Given the description of an element on the screen output the (x, y) to click on. 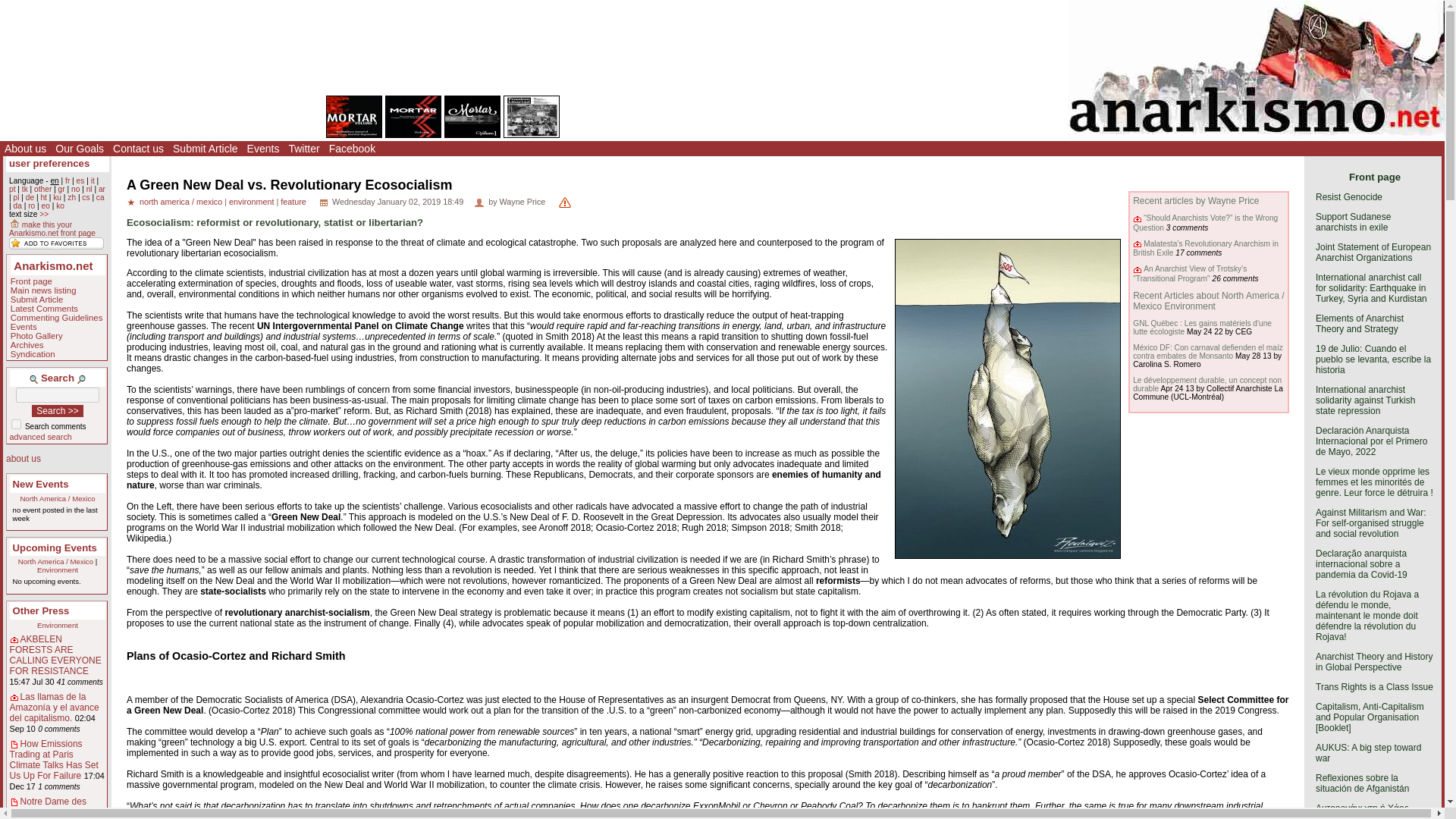
Submit Article (205, 148)
ku (56, 197)
es (80, 180)
Events (263, 148)
cs (84, 197)
Our Goals (78, 148)
Submit Article (205, 148)
other (41, 189)
Castellano (80, 180)
Submit Article (37, 298)
